Given the description of an element on the screen output the (x, y) to click on. 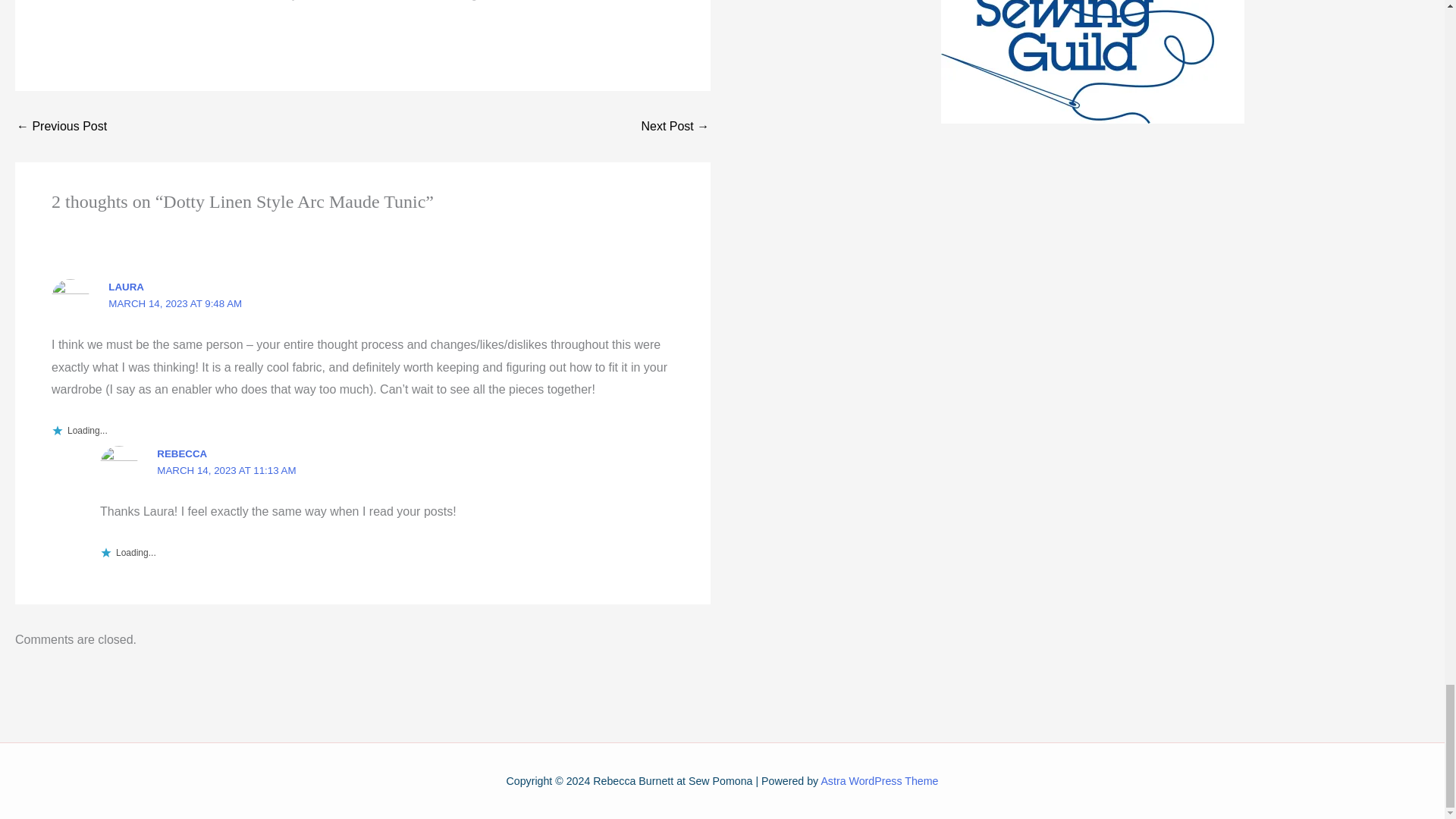
Greece Vacation Wardrobe- White Cupro Slip Dress (674, 126)
Deadstock Navy Cotton Twill Joy Woven Vest (61, 126)
MARCH 14, 2023 AT 9:48 AM (174, 303)
LAURA (125, 285)
